Given the description of an element on the screen output the (x, y) to click on. 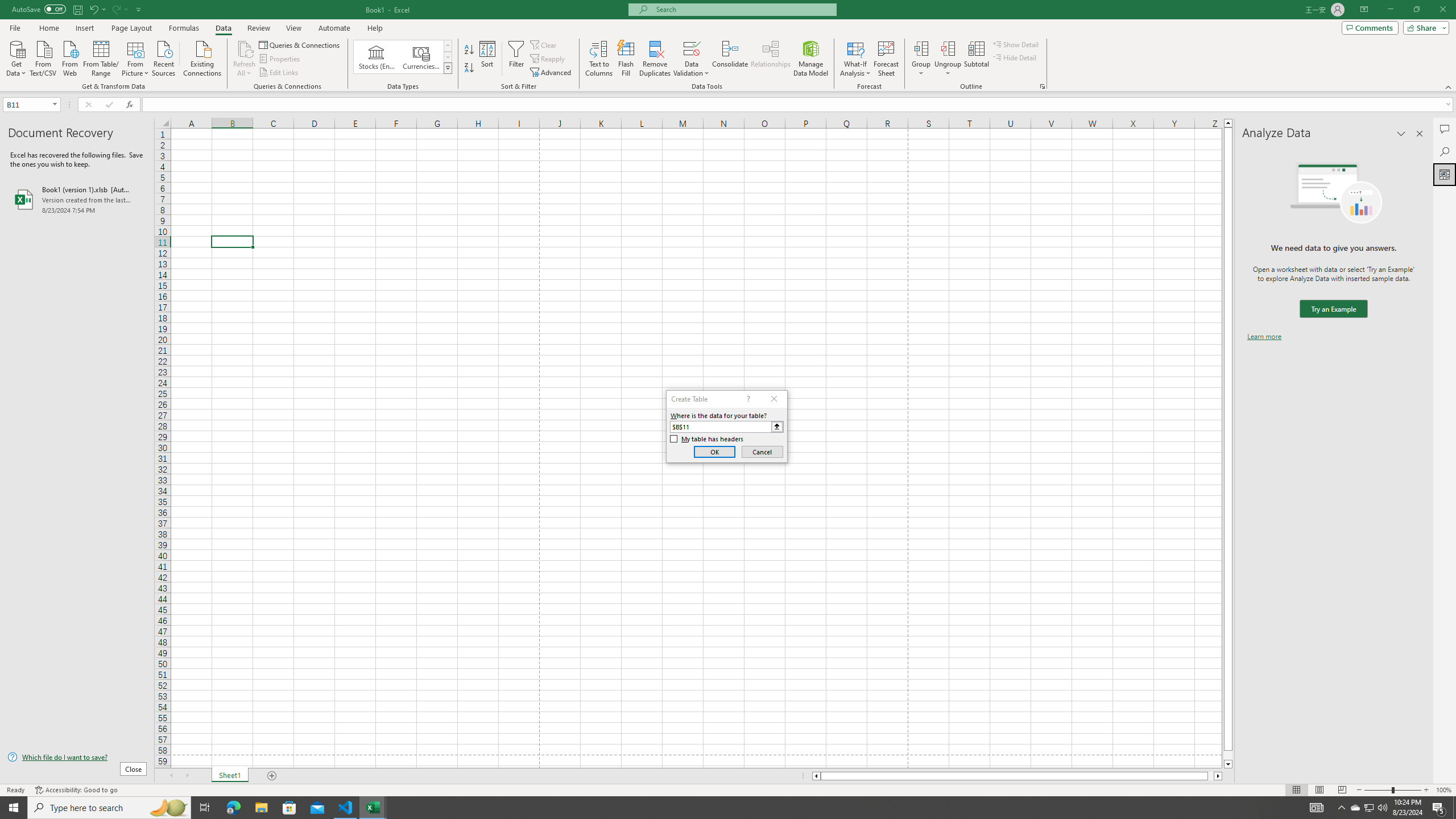
Consolidate... (729, 58)
